Given the description of an element on the screen output the (x, y) to click on. 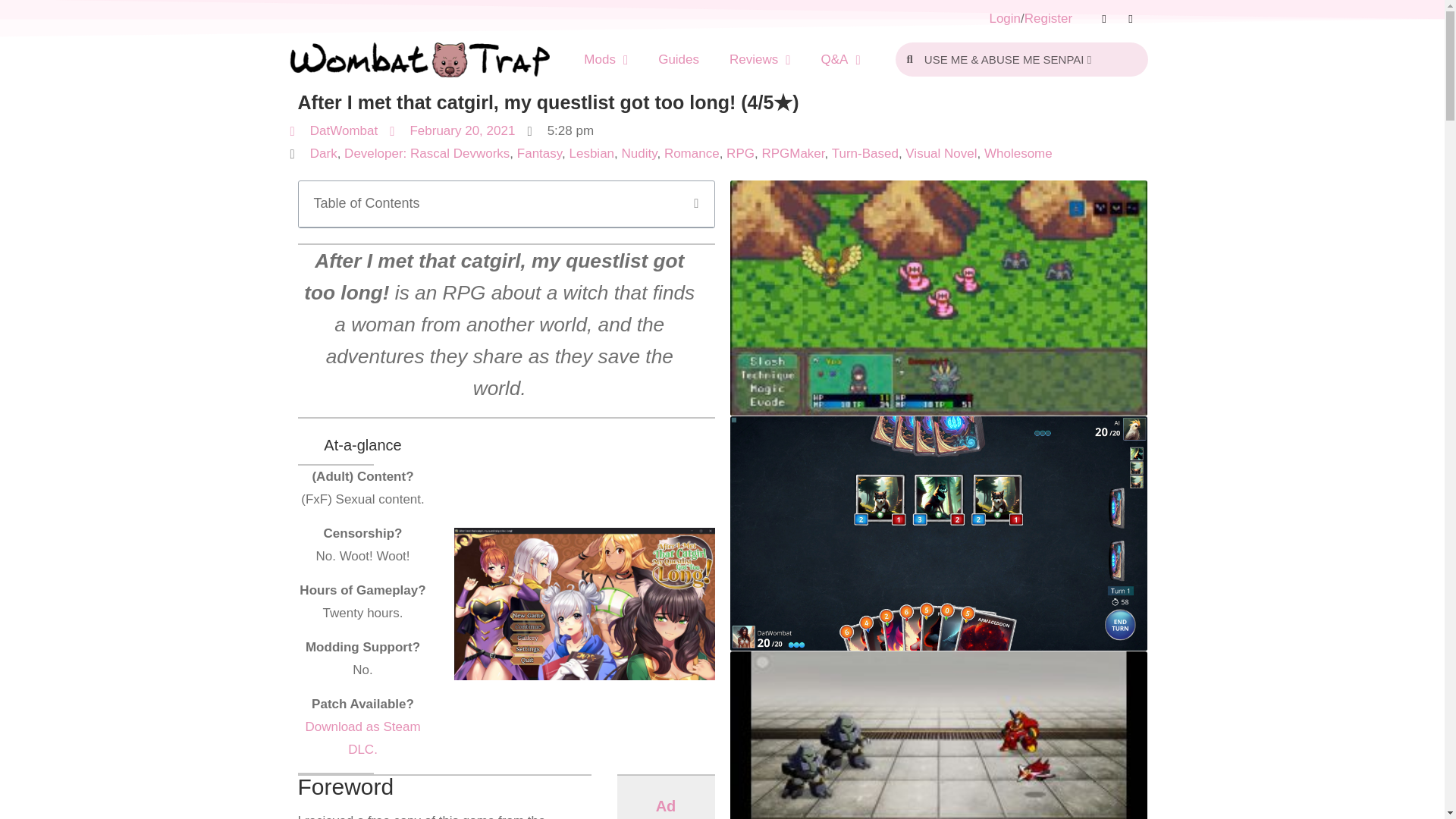
Mods (606, 59)
Register (1048, 18)
Reviews (759, 59)
Guides (678, 59)
Login (1004, 18)
